Given the description of an element on the screen output the (x, y) to click on. 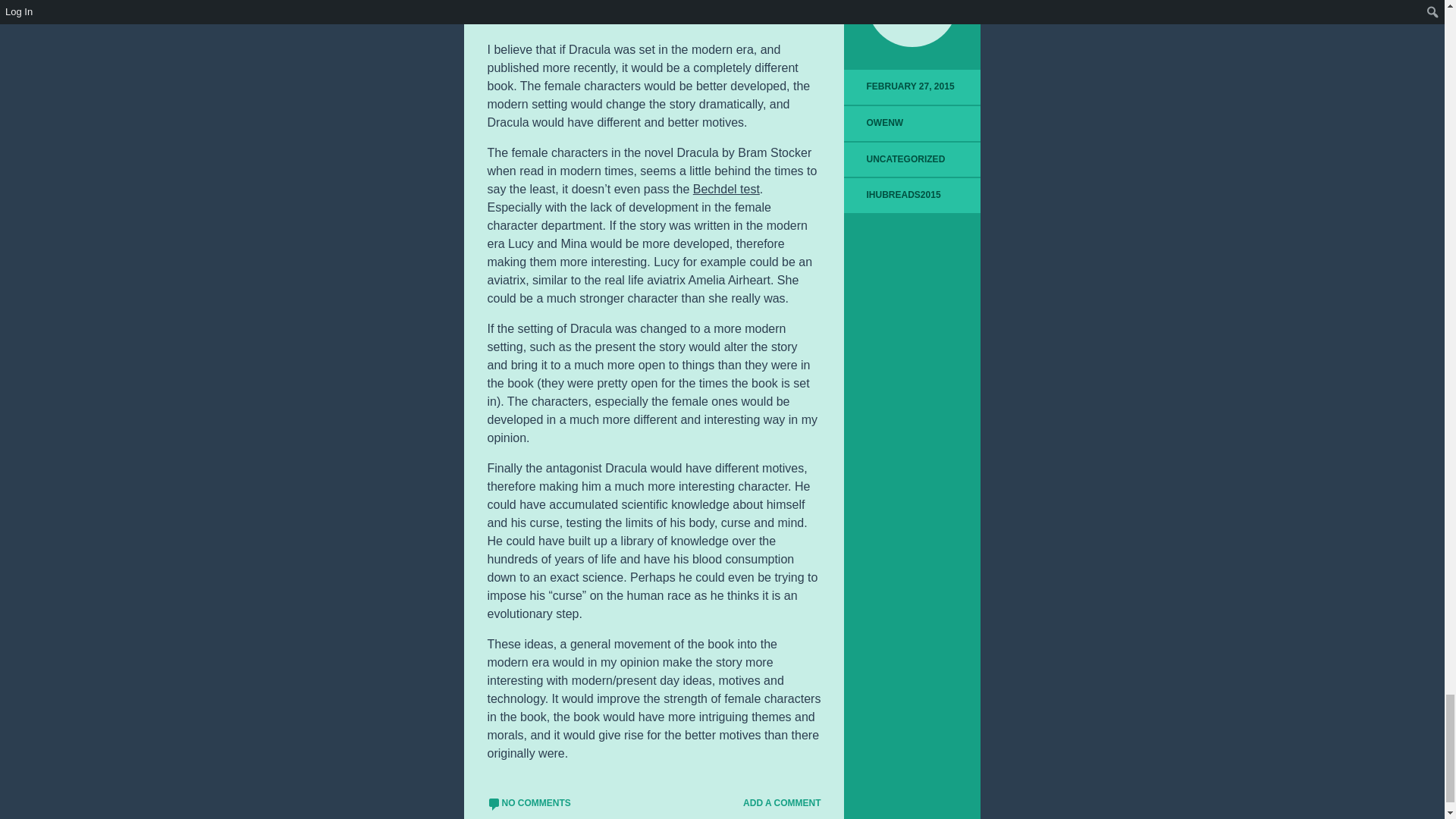
View all posts by owenw (885, 122)
